Given the description of an element on the screen output the (x, y) to click on. 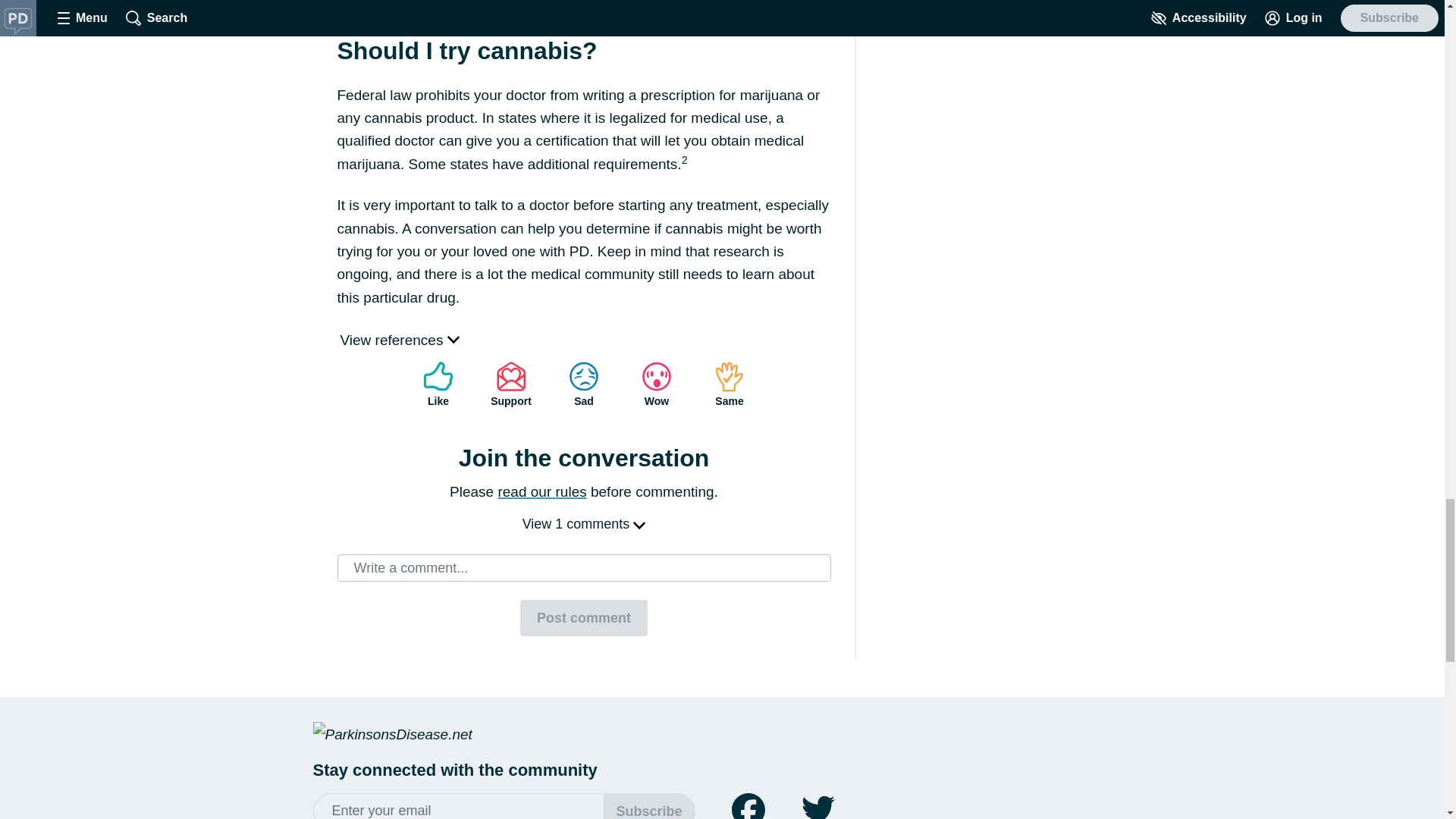
Like (437, 384)
Follow us on twitter (817, 806)
Sad (583, 384)
Subscribe (649, 806)
Follow us on facebook (747, 806)
View references caret icon (398, 339)
View 1 comments caret icon (584, 524)
 Write a comment...  (583, 567)
read our rules (541, 491)
Wow (656, 384)
